Given the description of an element on the screen output the (x, y) to click on. 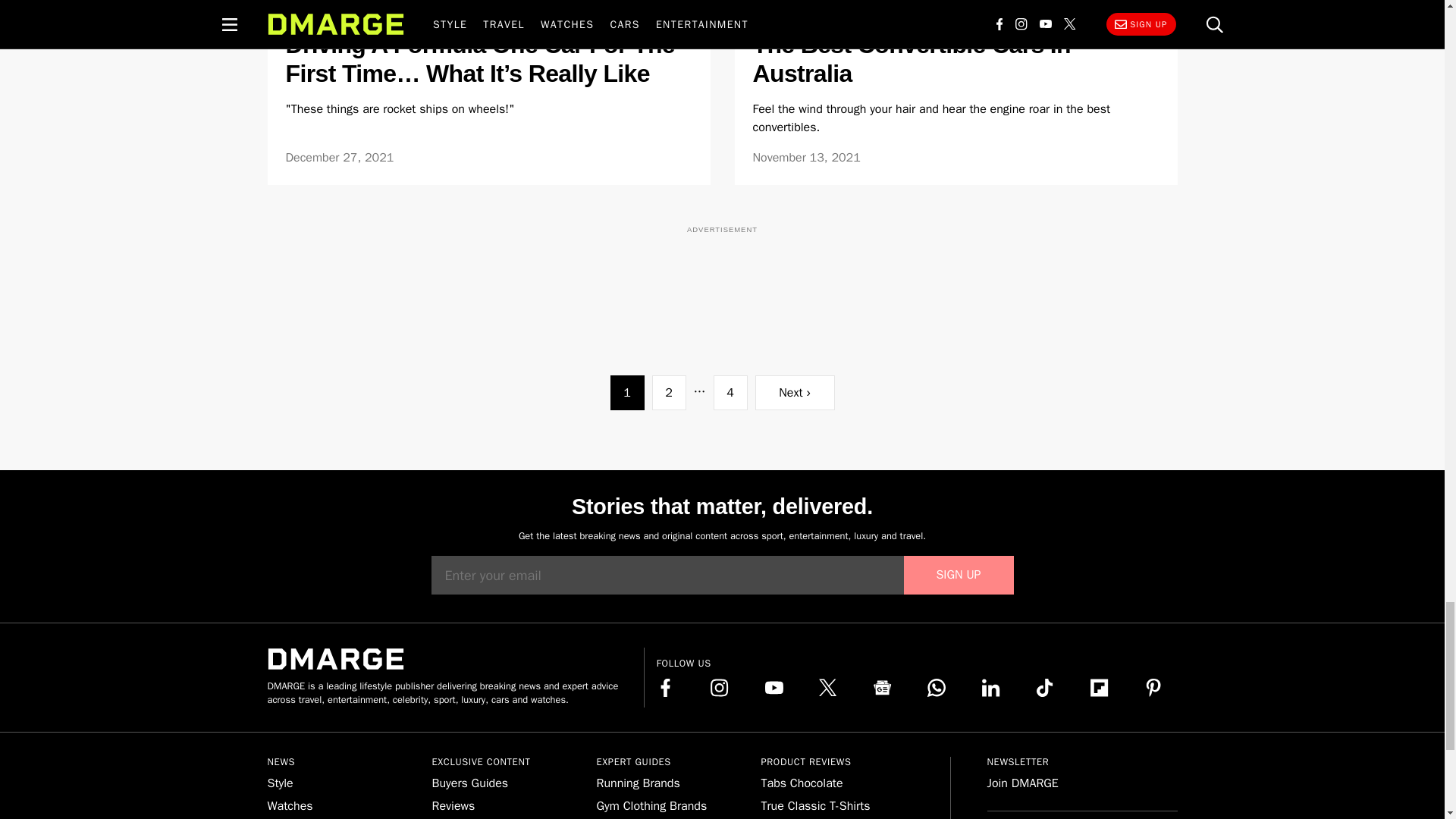
Visit us on TickTok (1044, 687)
Visit us on Instagram (719, 687)
Visit us on LinkedIn (990, 687)
Visit us on Pinterest (1152, 687)
Visit us on Flipboard (1099, 687)
Visit us on WhatsApp (935, 687)
Visit us on Twitter (827, 687)
Visit us on YouTube (774, 687)
Visit us on Facebook (665, 687)
Visit us on Google News (882, 687)
